Given the description of an element on the screen output the (x, y) to click on. 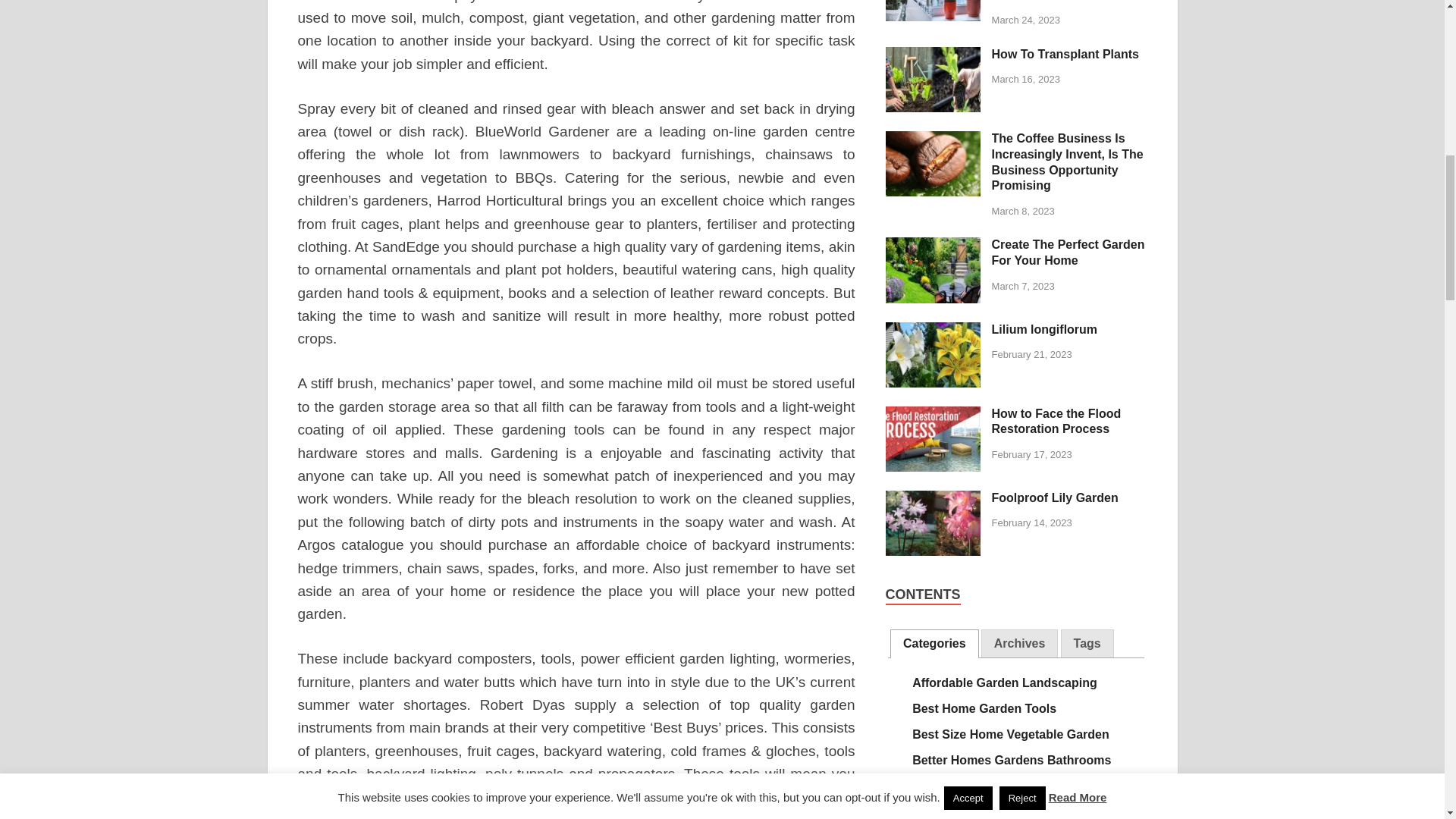
Create The Perfect Garden For Your Home (932, 245)
How To Transplant Plants (932, 55)
Lilium longiflorum (932, 330)
How to Face the Flood Restoration Process (932, 414)
Foolproof Lily Garden (932, 499)
